Given the description of an element on the screen output the (x, y) to click on. 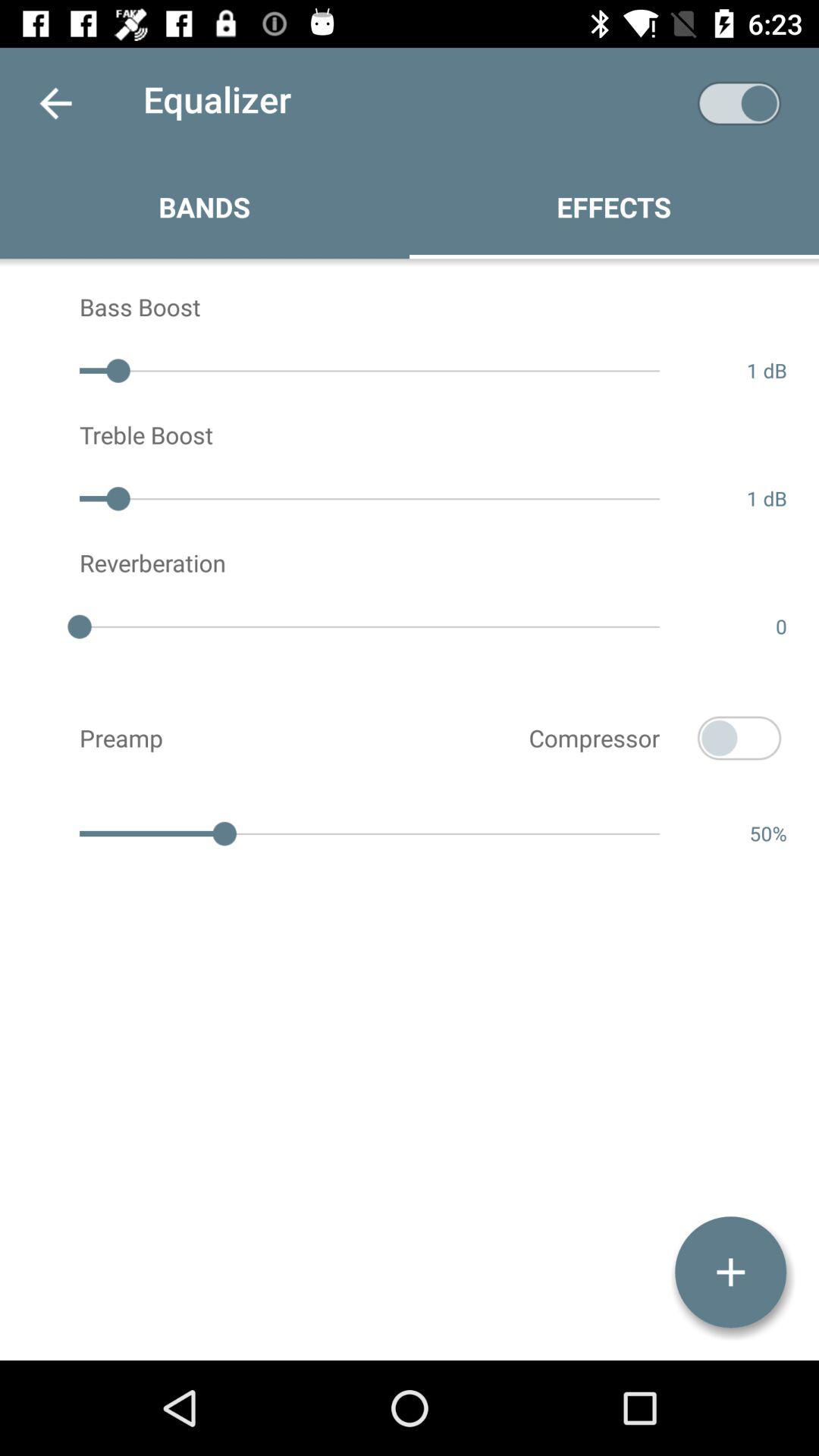
select app next to the effects (739, 103)
